Given the description of an element on the screen output the (x, y) to click on. 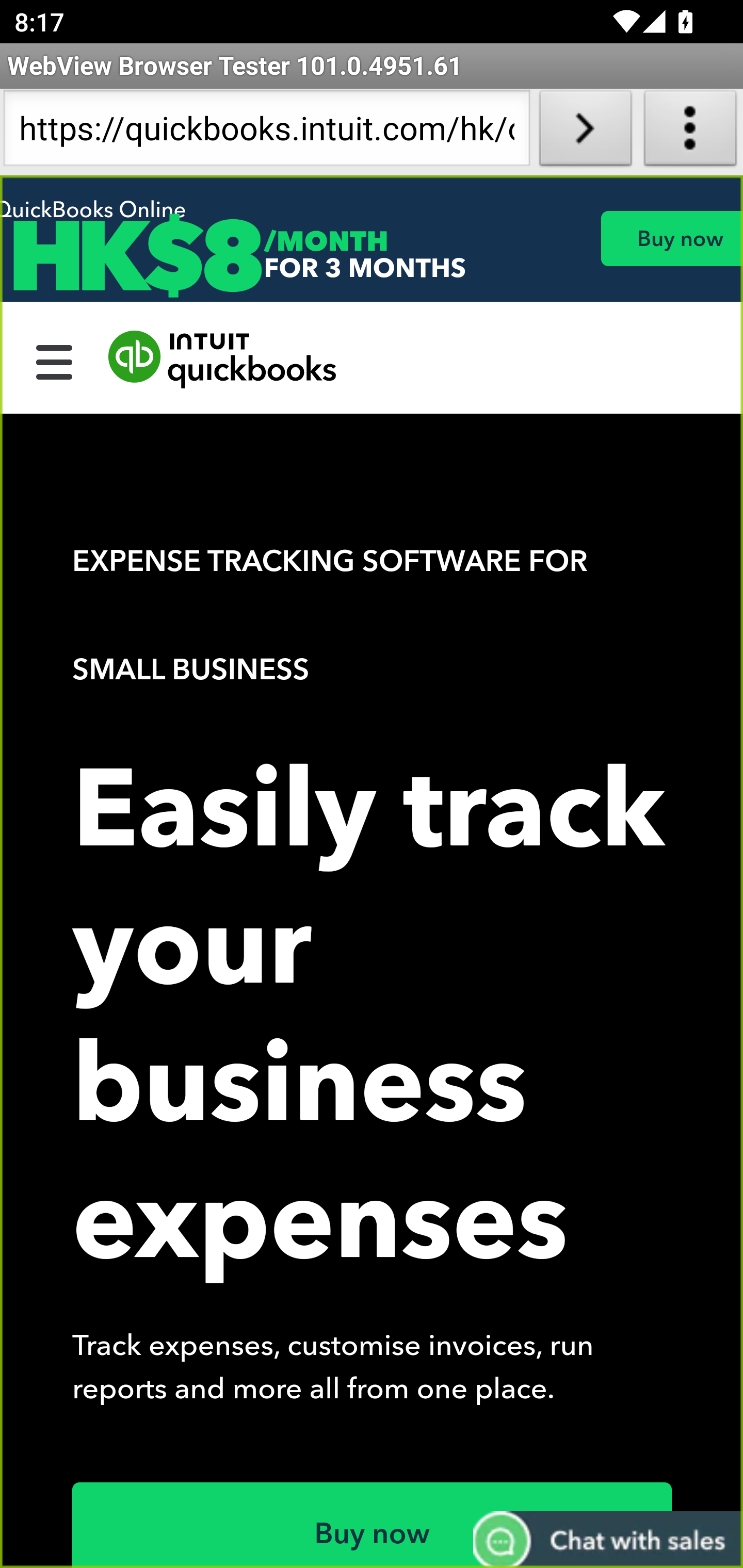
Load URL (585, 132)
About WebView (690, 132)
Buy now (671, 238)
quickbooks-mobile-burger (54, 359)
quickbooks (222, 359)
Buy now (372, 1524)
